Given the description of an element on the screen output the (x, y) to click on. 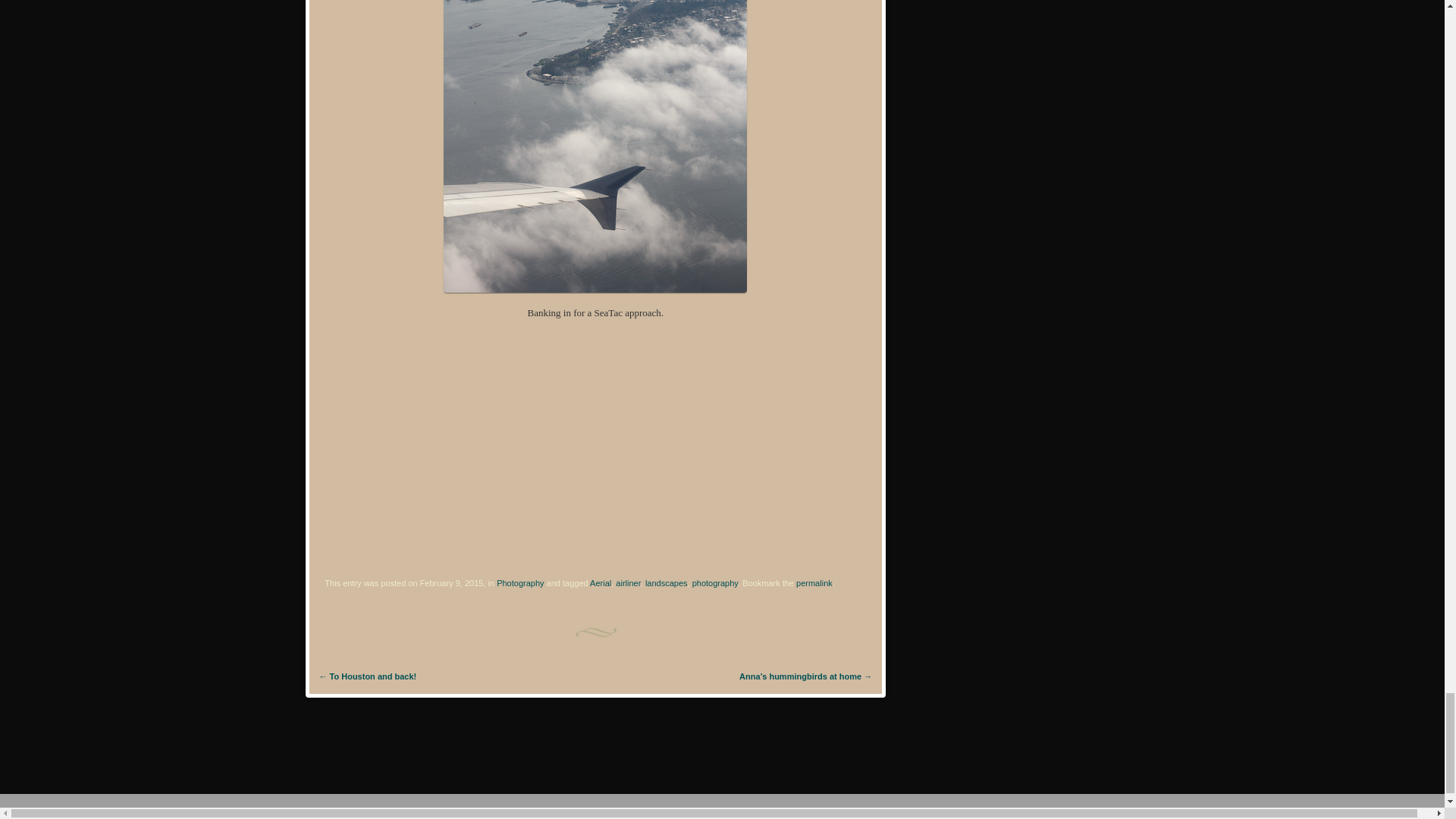
permalink (814, 583)
landscapes (666, 583)
photography (715, 583)
Semantic Personal Publishing Platform (108, 809)
airliner (627, 583)
Photography (519, 583)
Permalink to Over the West (814, 583)
Aerial (600, 583)
